Given the description of an element on the screen output the (x, y) to click on. 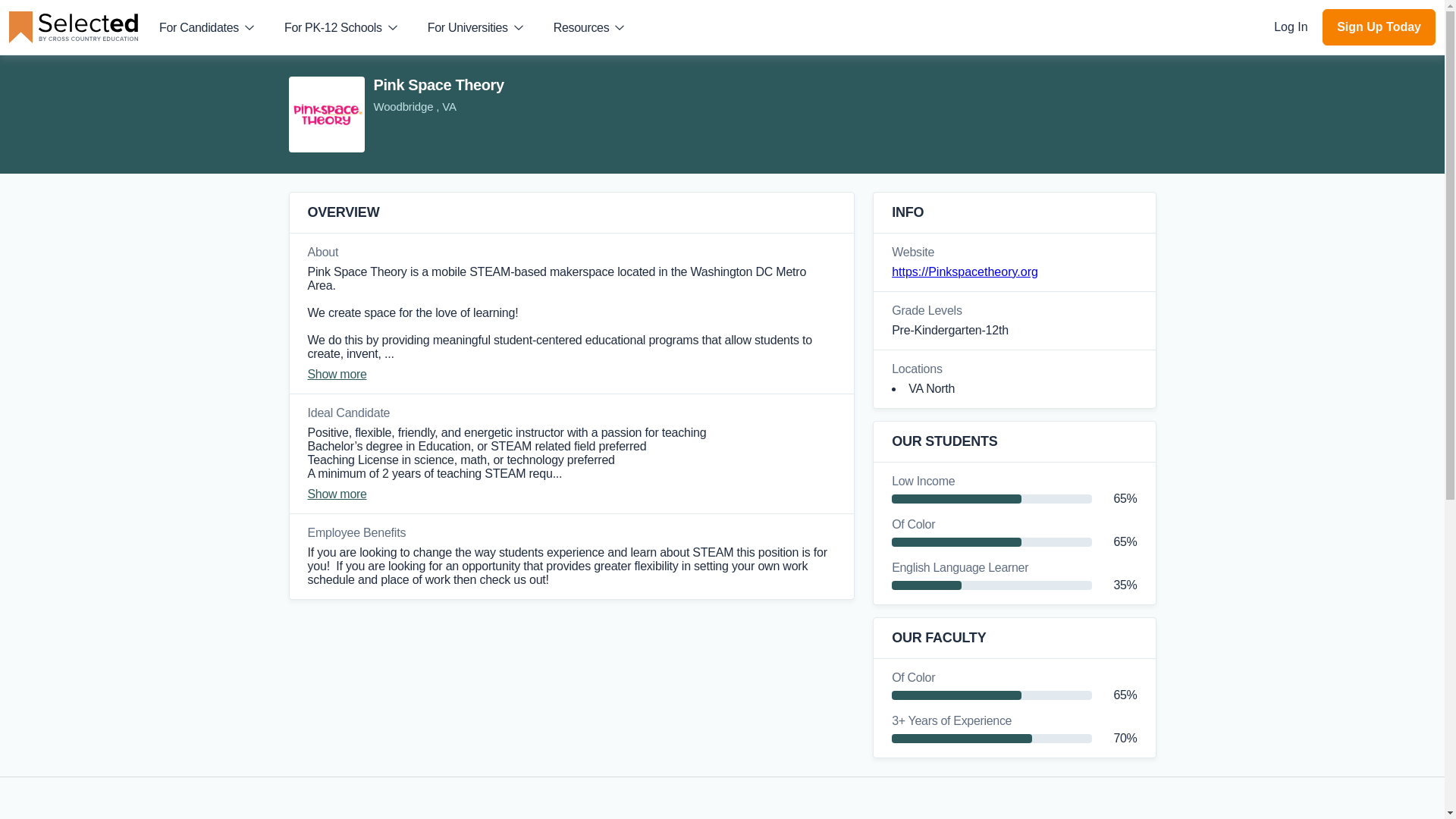
Sign Up Today (1378, 27)
Log In (1292, 27)
